Given the description of an element on the screen output the (x, y) to click on. 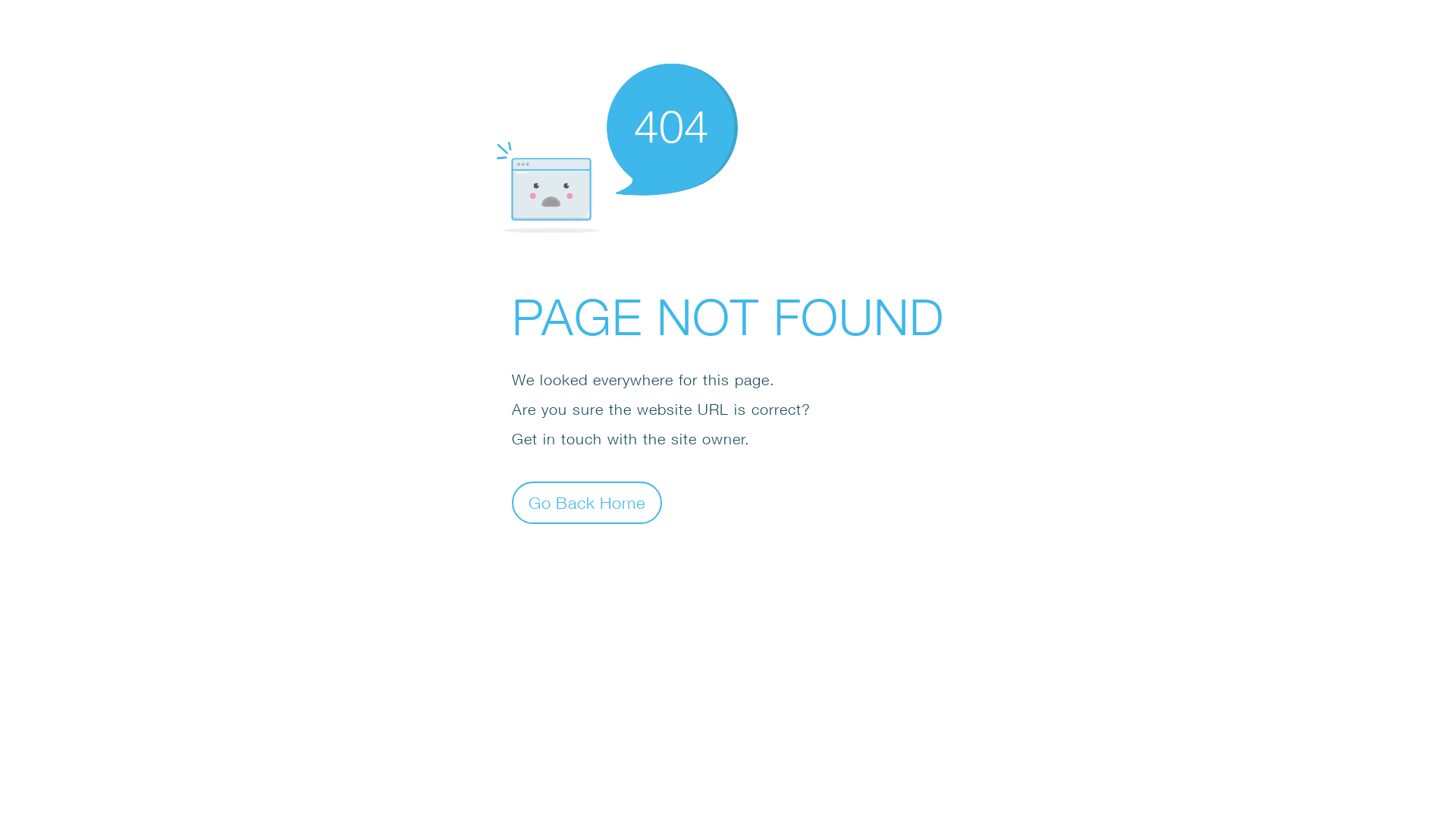
Go Back Home Element type: text (586, 502)
